Given the description of an element on the screen output the (x, y) to click on. 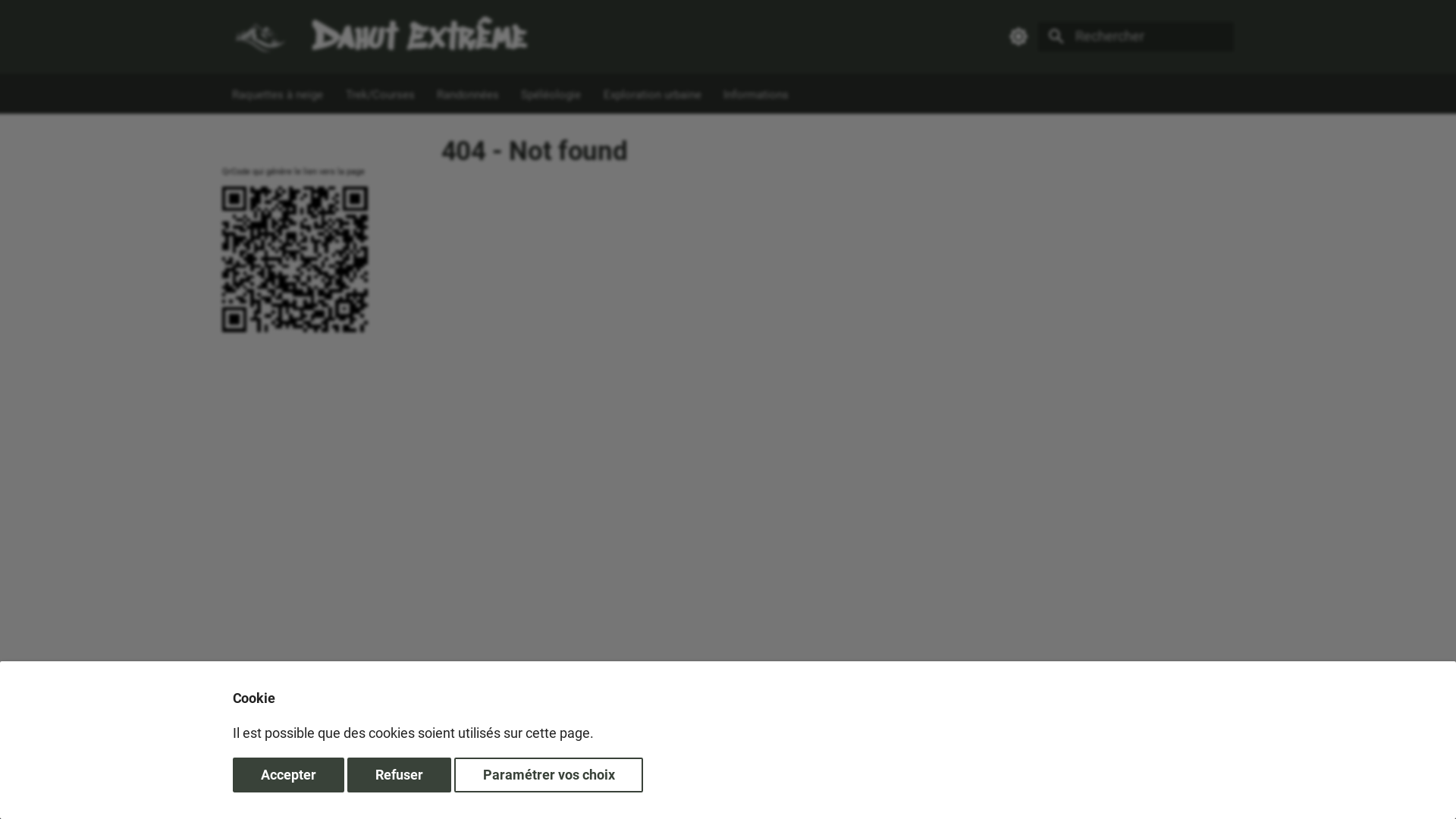
Material for MkDocs Element type: text (331, 799)
Accepter Element type: text (288, 774)
Informations Element type: text (755, 93)
Exploration urbaine Element type: text (652, 93)
https://extreme.ia86.cc/spip.php%3Farticle21.html Element type: hover (318, 259)
Switch to dark mode Element type: hover (1018, 36)
Refuser Element type: text (399, 774)
Trek/Courses Element type: text (379, 93)
